Given the description of an element on the screen output the (x, y) to click on. 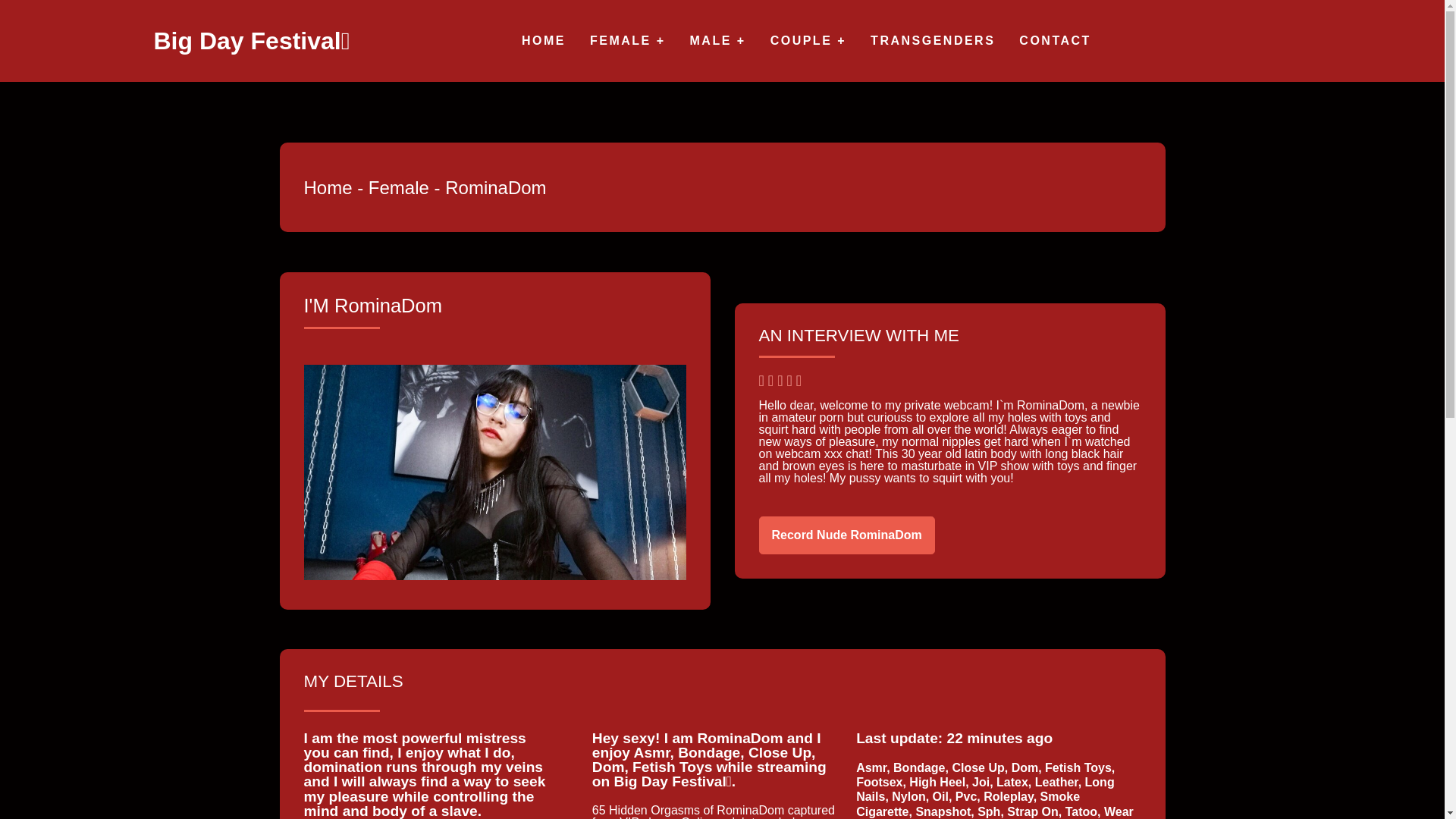
TRANSGENDERS (932, 40)
HOME (543, 40)
Bondage (922, 767)
Home (327, 187)
Big Day Festival? (543, 40)
CONTACT (1054, 40)
Contact (1054, 40)
Big Day Festival? (250, 40)
Transgenders (932, 40)
Record Nude RominaDom (846, 535)
Close Up (981, 767)
Asmr (874, 767)
Female (398, 187)
